Given the description of an element on the screen output the (x, y) to click on. 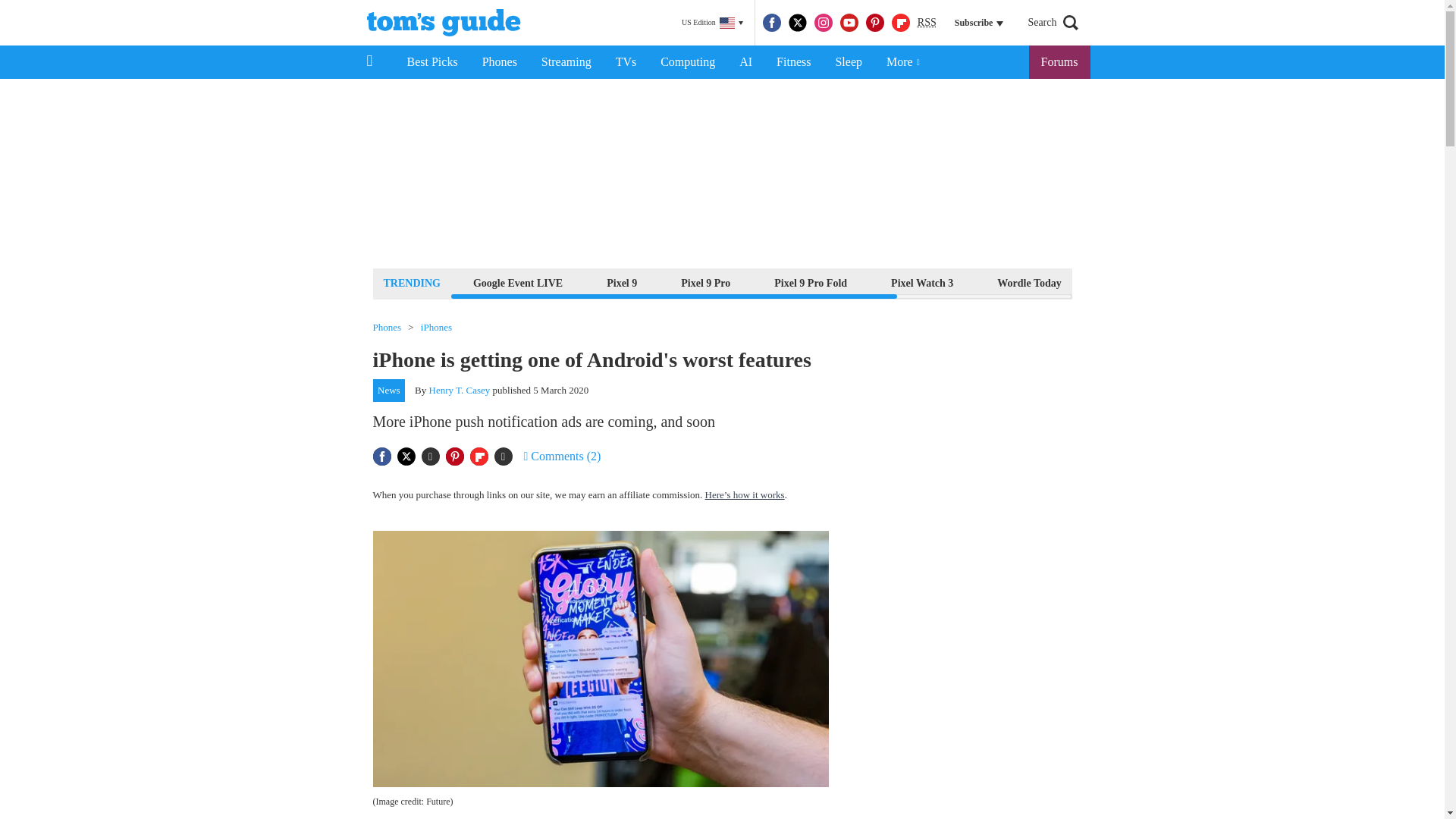
Phones (499, 61)
Streaming (566, 61)
Sleep (848, 61)
Fitness (793, 61)
RSS (926, 22)
US Edition (712, 22)
Computing (686, 61)
Really Simple Syndication (926, 21)
TVs (626, 61)
AI (745, 61)
